Given the description of an element on the screen output the (x, y) to click on. 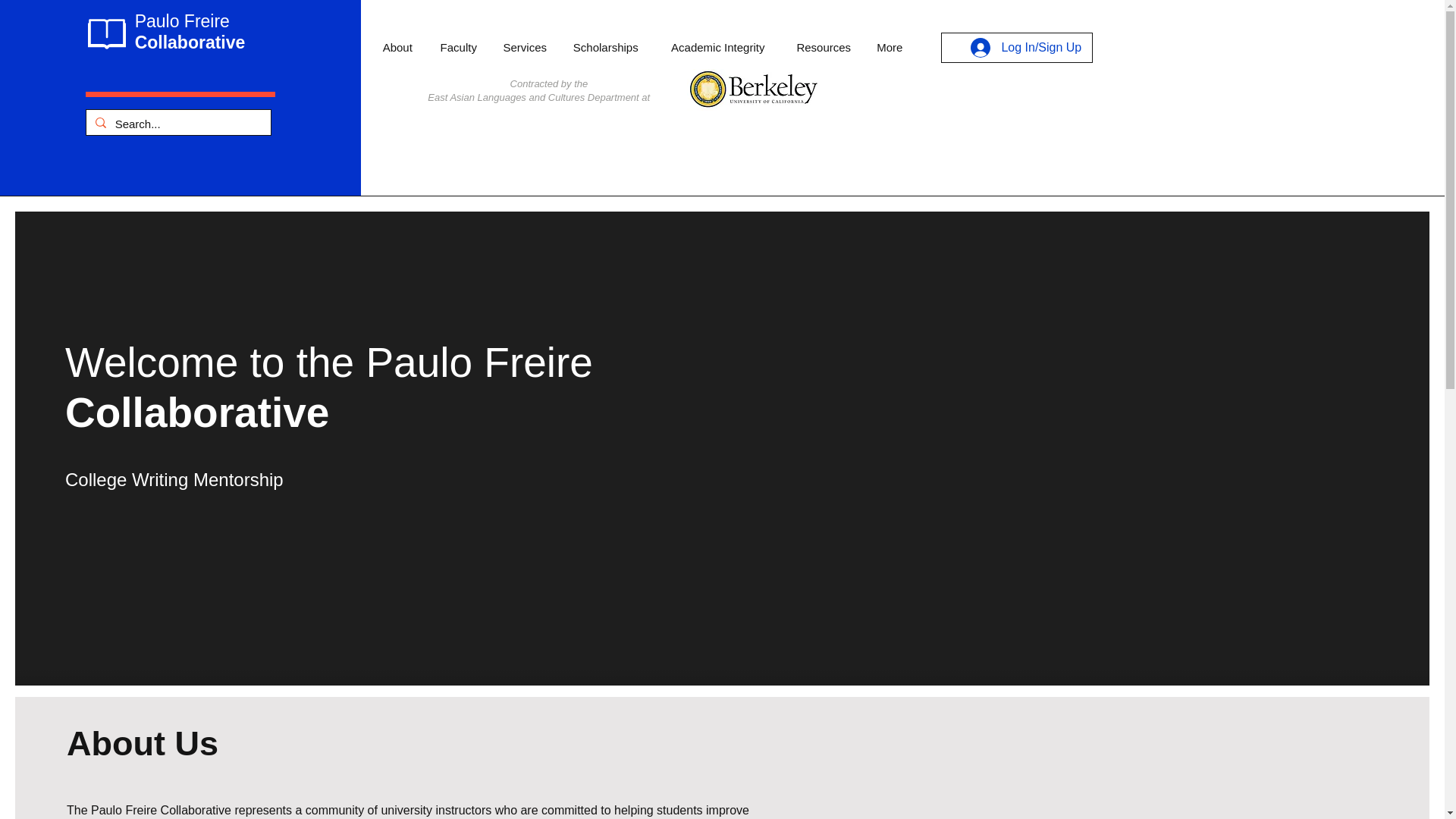
About (397, 47)
Services (524, 47)
Academic Integrity (717, 47)
Paulo Freire  Collaborative (190, 31)
Faculty (458, 47)
Scholarships (605, 47)
